Given the description of an element on the screen output the (x, y) to click on. 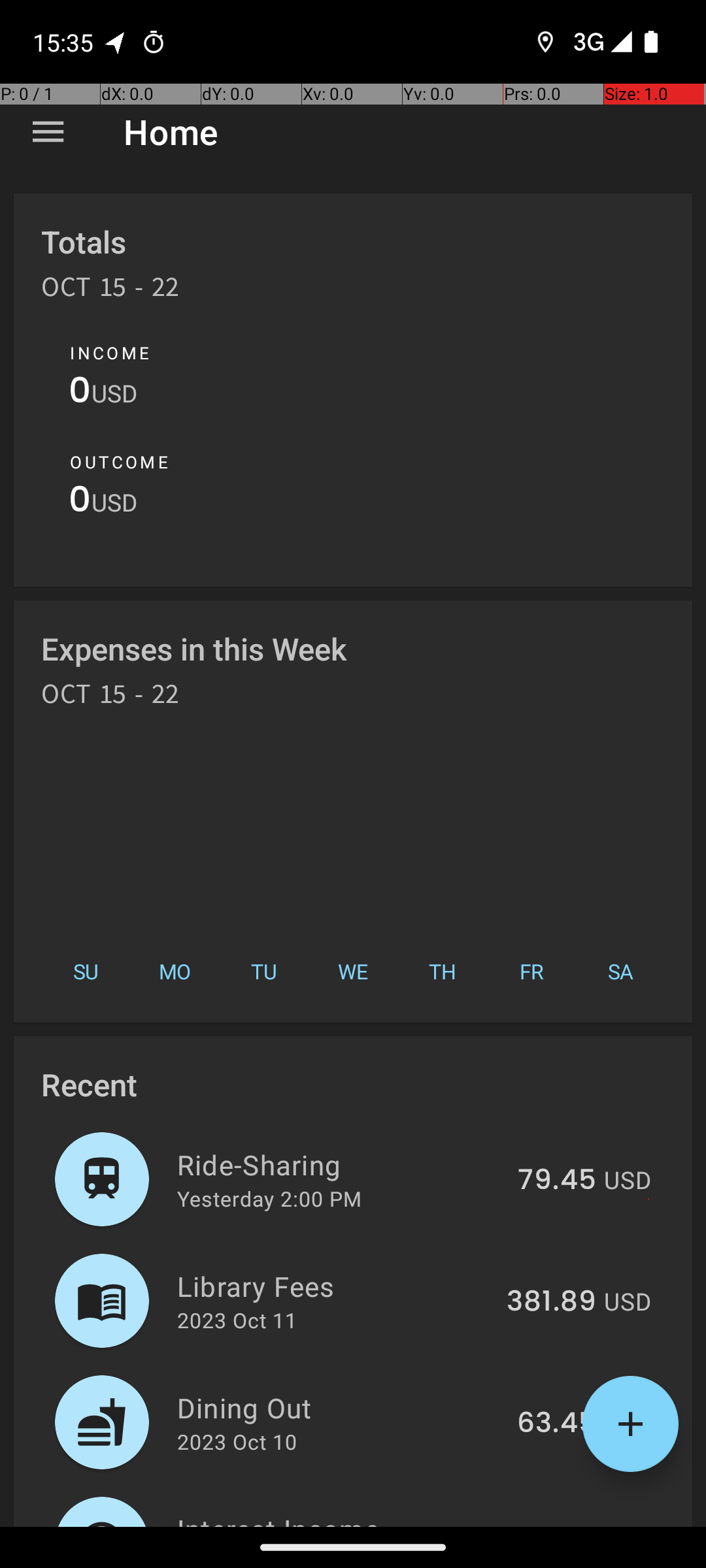
Yesterday 2:00 PM Element type: android.widget.TextView (269, 1198)
79.45 Element type: android.widget.TextView (556, 1180)
381.89 Element type: android.widget.TextView (550, 1301)
Dining Out Element type: android.widget.TextView (339, 1407)
63.45 Element type: android.widget.TextView (556, 1423)
368.86 Element type: android.widget.TextView (547, 1524)
